Given the description of an element on the screen output the (x, y) to click on. 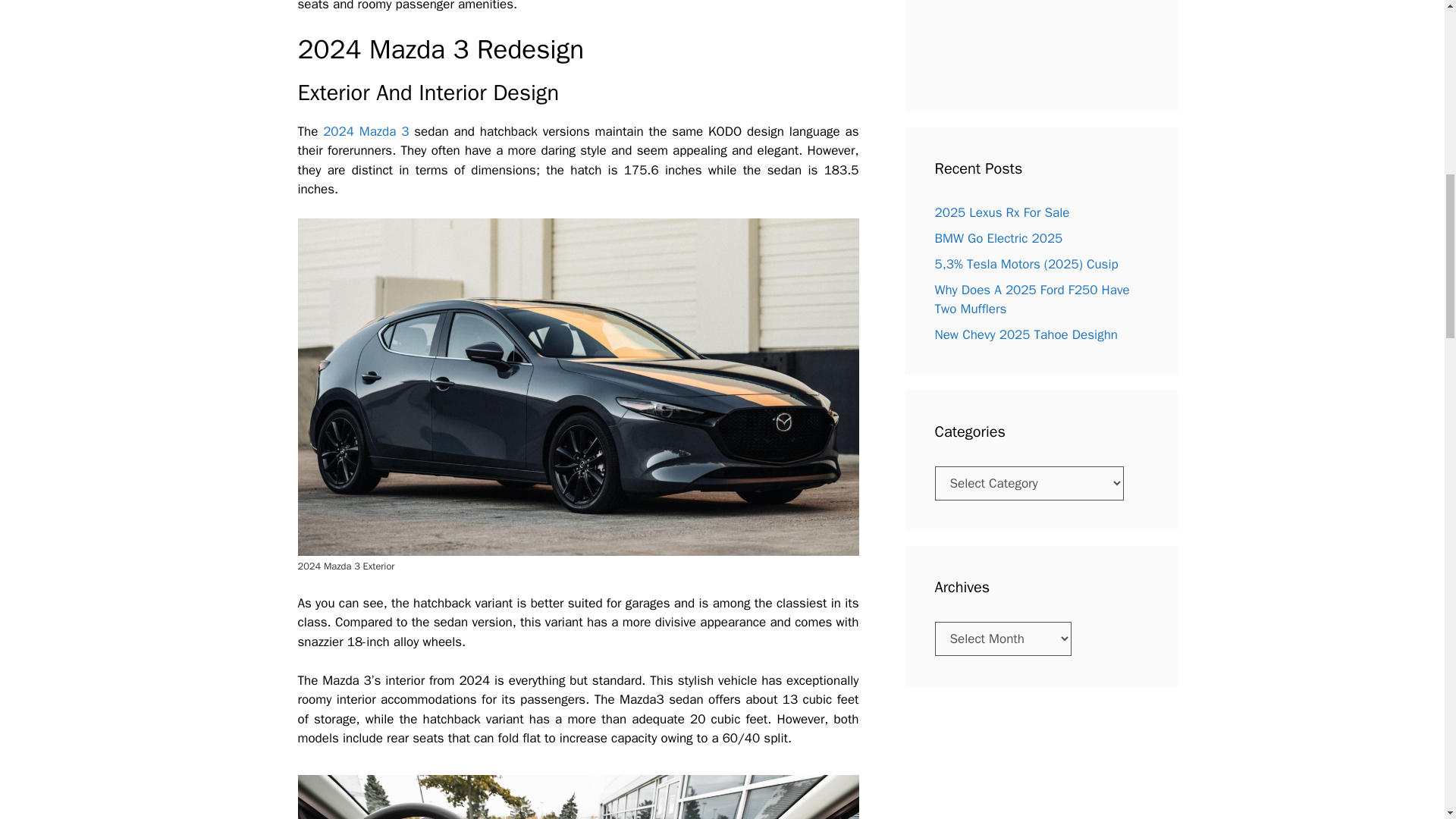
Advertisement (1013, 40)
Scroll back to top (1406, 720)
2024 Mazda 3 (366, 131)
